Given the description of an element on the screen output the (x, y) to click on. 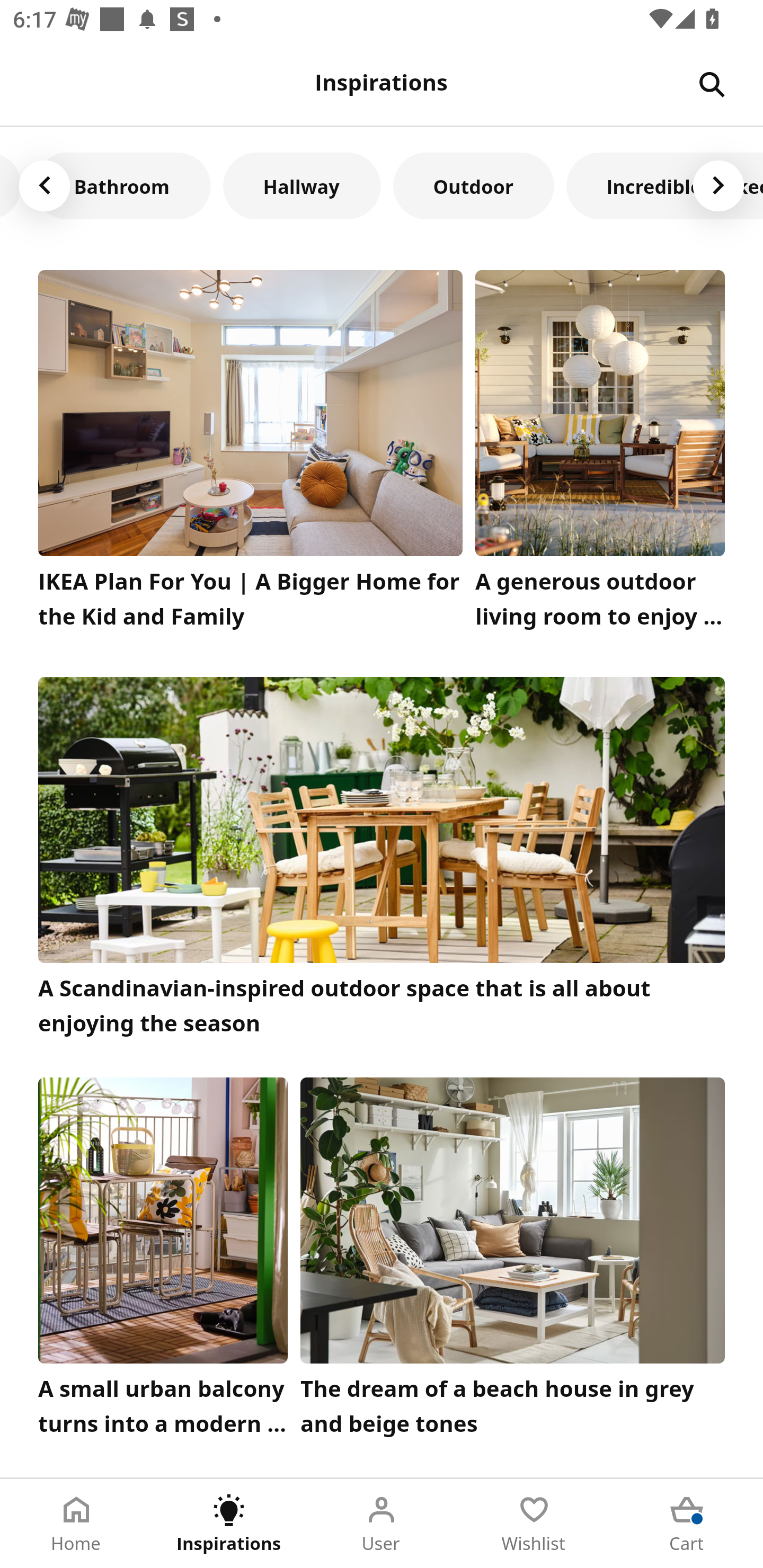
Bathroom (121, 185)
Hallway (301, 185)
Outdoor (472, 185)
The dream of a beach house in grey and beige tones (512, 1261)
Home
Tab 1 of 5 (76, 1522)
Inspirations
Tab 2 of 5 (228, 1522)
User
Tab 3 of 5 (381, 1522)
Wishlist
Tab 4 of 5 (533, 1522)
Cart
Tab 5 of 5 (686, 1522)
